Given the description of an element on the screen output the (x, y) to click on. 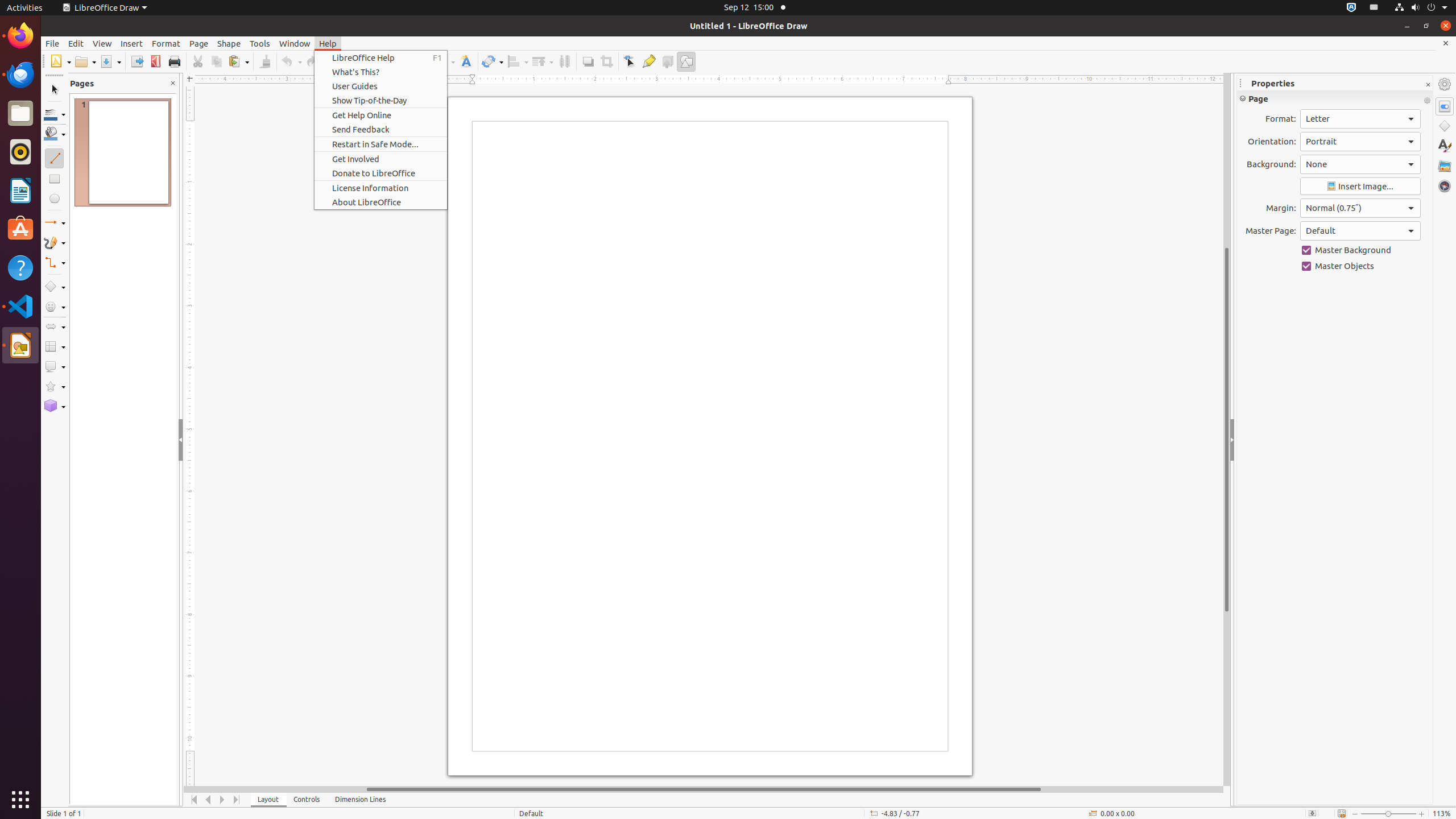
Get Involved Element type: menu-item (380, 158)
New Element type: push-button (59, 61)
Format: Element type: combo-box (1360, 118)
Vertical Ruler Element type: ruler (190, 436)
System Element type: menu (1420, 7)
